Given the description of an element on the screen output the (x, y) to click on. 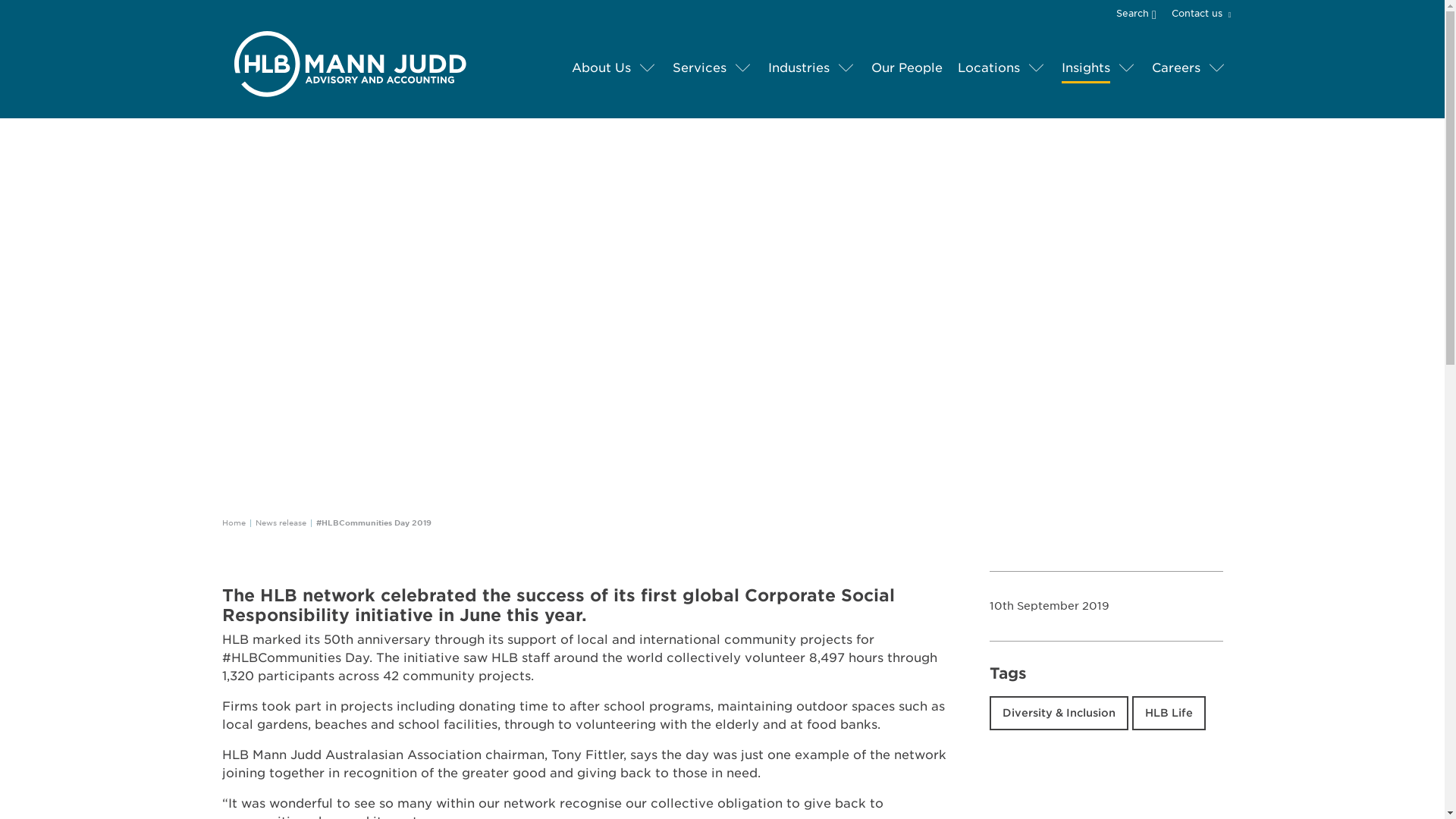
Contact us (1198, 13)
Services (698, 68)
Home (232, 522)
About Us (601, 68)
Search (1141, 12)
